Given the description of an element on the screen output the (x, y) to click on. 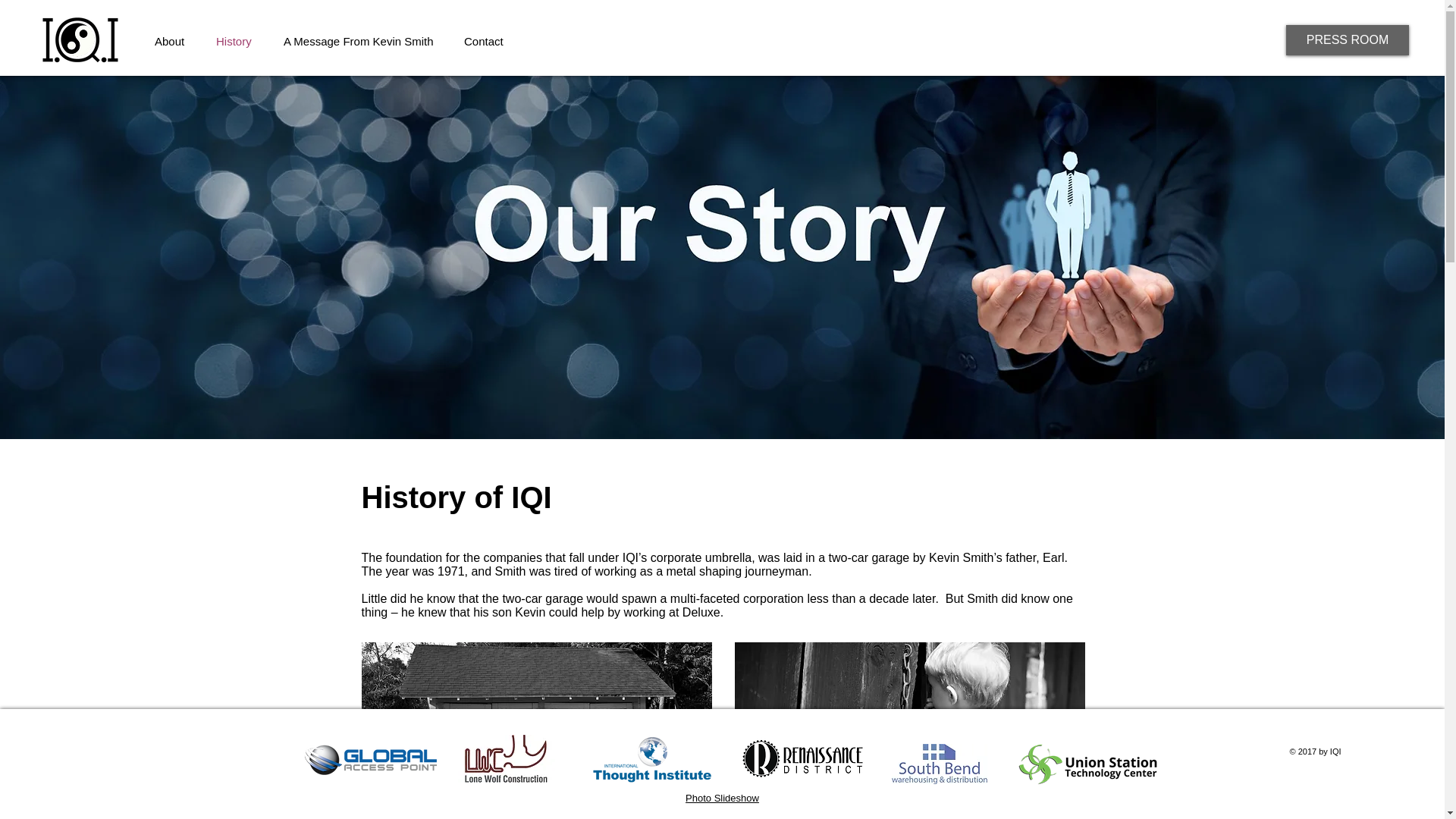
History (233, 41)
A Message From Kevin Smith (357, 41)
Photo Slideshow (721, 797)
UNION STATION TECHNOLOGY CENTER LOGO.png (1087, 763)
Contact (483, 41)
About (169, 41)
SBWD-LOGO-RGB-OUTLINED.jpg (939, 763)
LONE-WOLF-Logo-RGB-OUTLINED.jpg (510, 758)
PRESS ROOM (1347, 40)
GAPblue.png (368, 758)
